Given the description of an element on the screen output the (x, y) to click on. 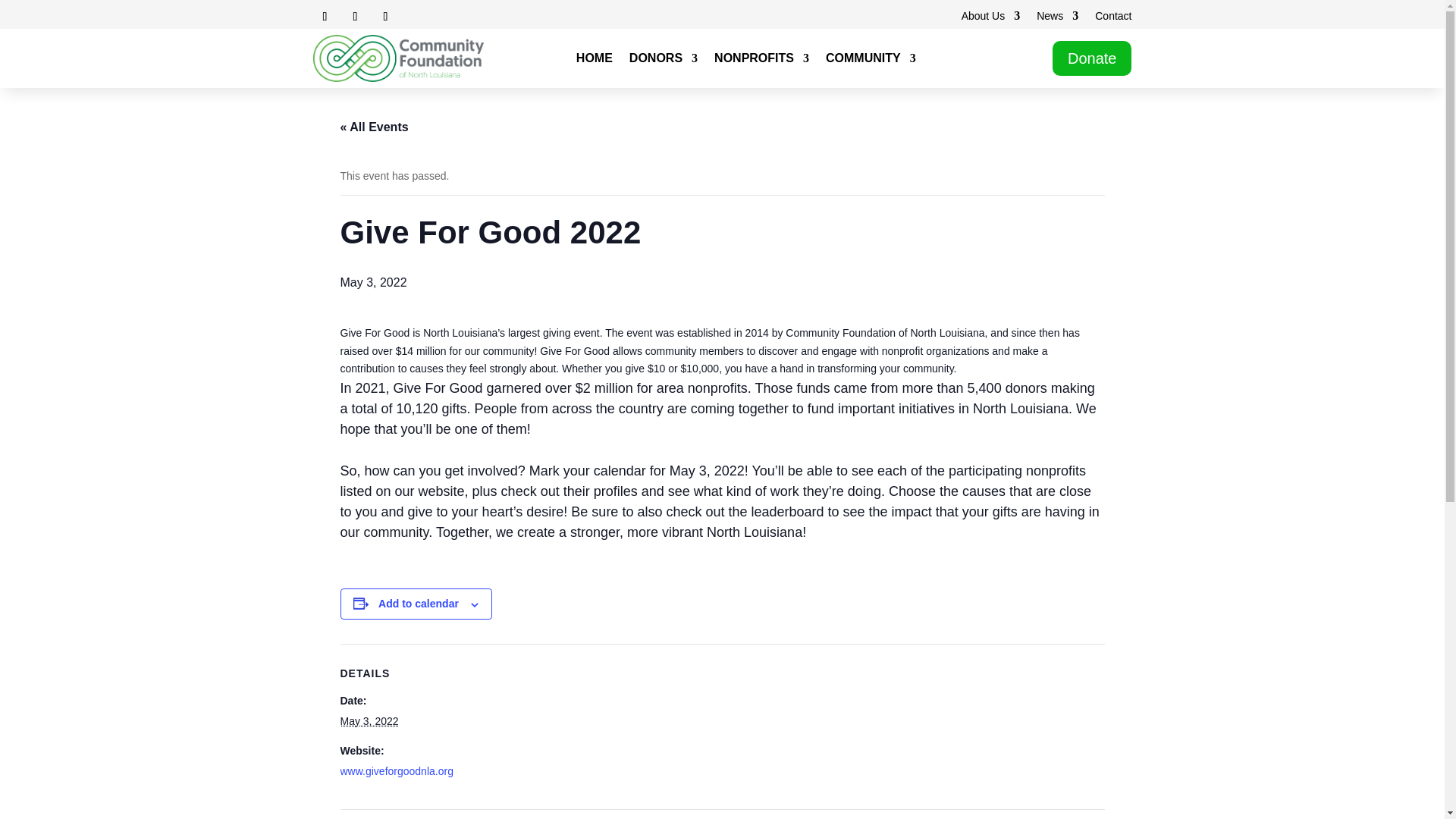
Community Foundation Logo (398, 58)
Contact (1112, 18)
Follow on LinkedIn (384, 16)
COMMUNITY (870, 61)
About Us (990, 18)
DONORS (662, 61)
NONPROFITS (761, 61)
News (1057, 18)
Follow on Instagram (354, 16)
HOME (594, 61)
